Given the description of an element on the screen output the (x, y) to click on. 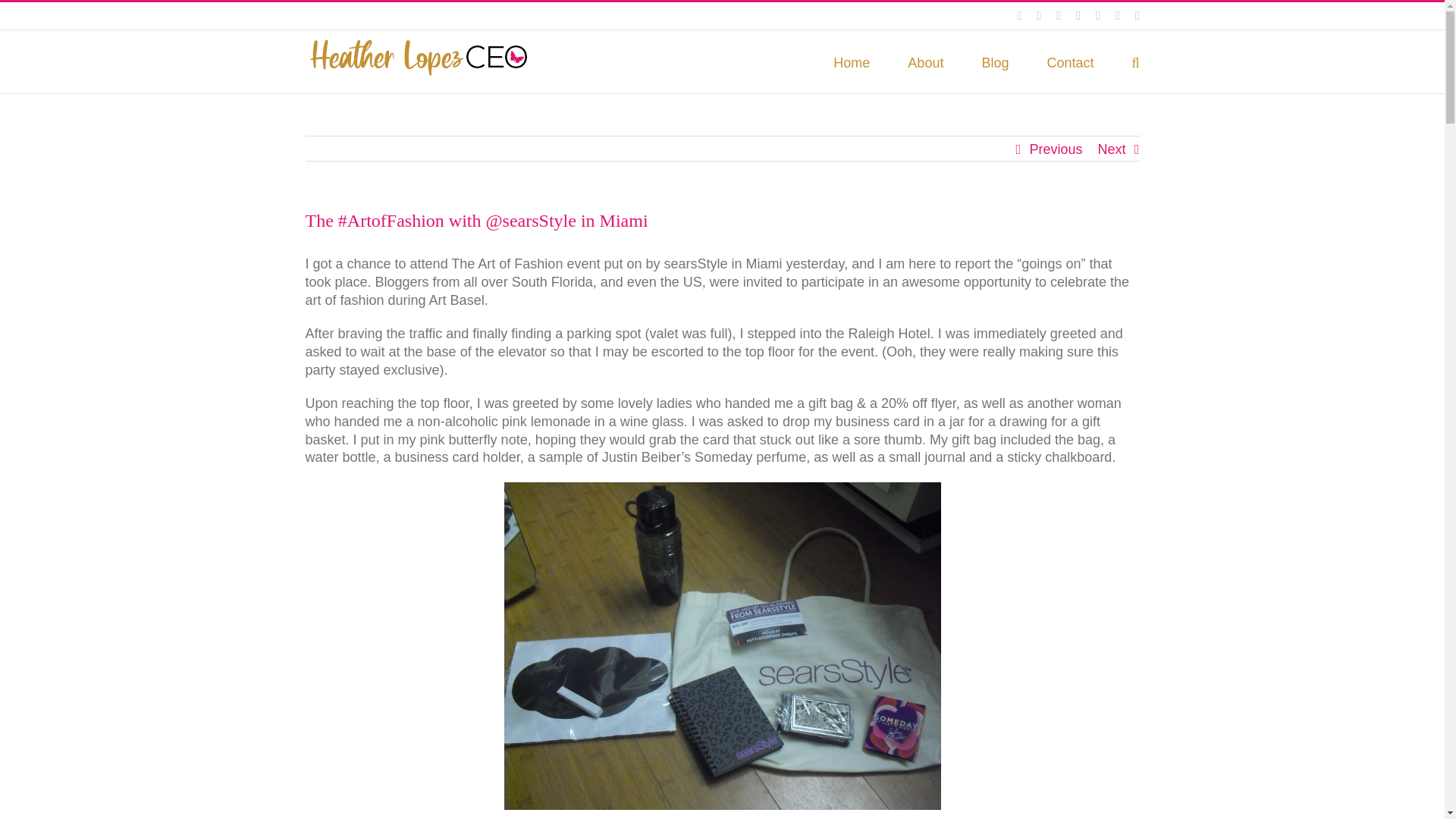
Next (1111, 149)
Previous (1055, 149)
